Given the description of an element on the screen output the (x, y) to click on. 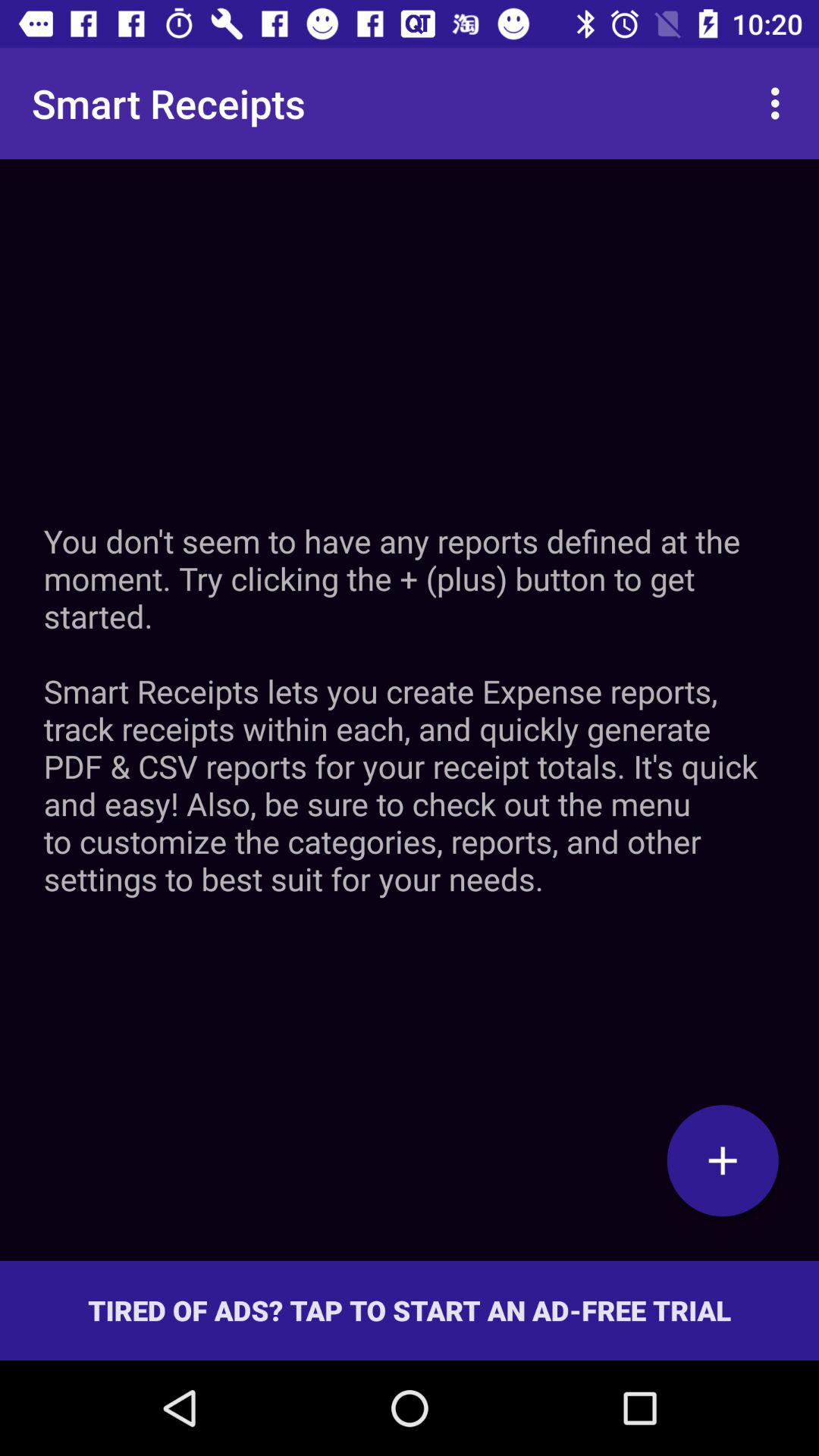
select the icon below the you don t icon (722, 1160)
